Given the description of an element on the screen output the (x, y) to click on. 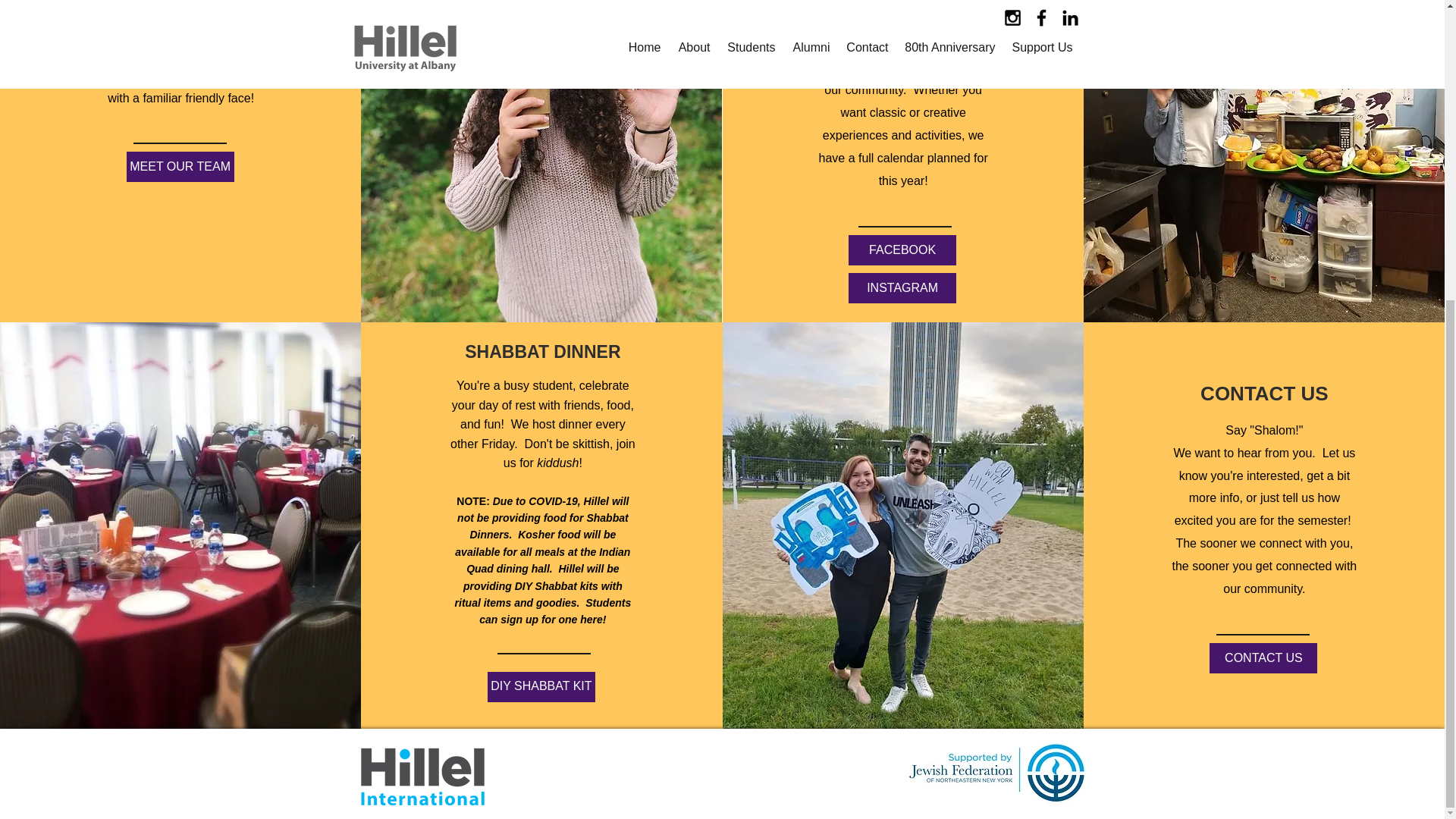
MEET OUR TEAM (180, 166)
DIY SHABBAT KIT (541, 686)
Neimah-2017-Federation-logo-2-6-17.jpg (996, 771)
INSTAGRAM (902, 287)
FACEBOOK (902, 250)
CONTACT US (1263, 657)
7771666-logo.png (422, 776)
